Given the description of an element on the screen output the (x, y) to click on. 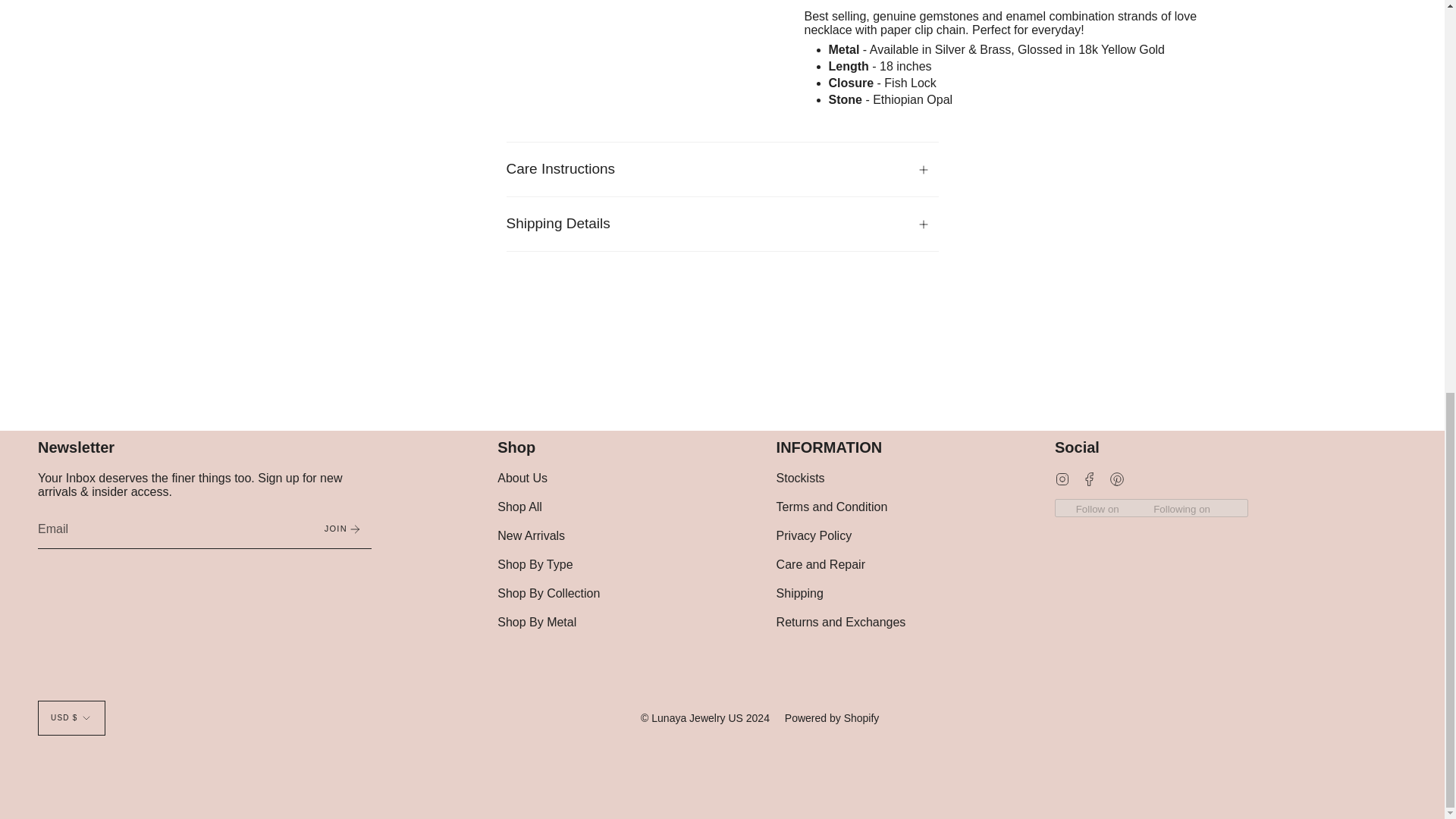
Lunaya Jewelry US on Pinterest (1116, 477)
Lunaya Jewelry US on Facebook (1089, 477)
Lunaya Jewelry US on Instagram (1062, 477)
